Given the description of an element on the screen output the (x, y) to click on. 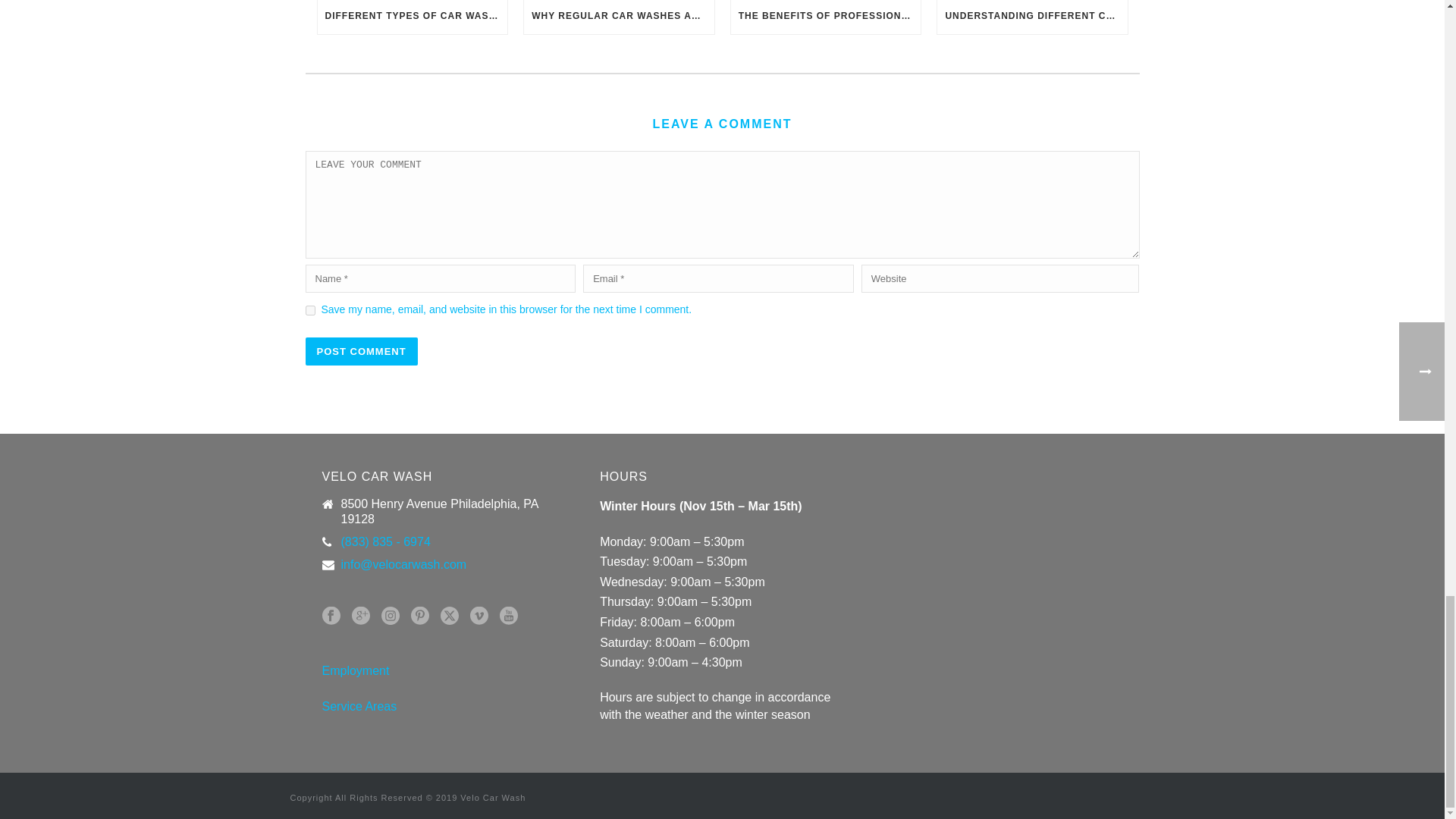
Follow Us on googleplus (360, 616)
yes (309, 310)
Follow Us on facebook (330, 616)
POST COMMENT (360, 351)
